Given the description of an element on the screen output the (x, y) to click on. 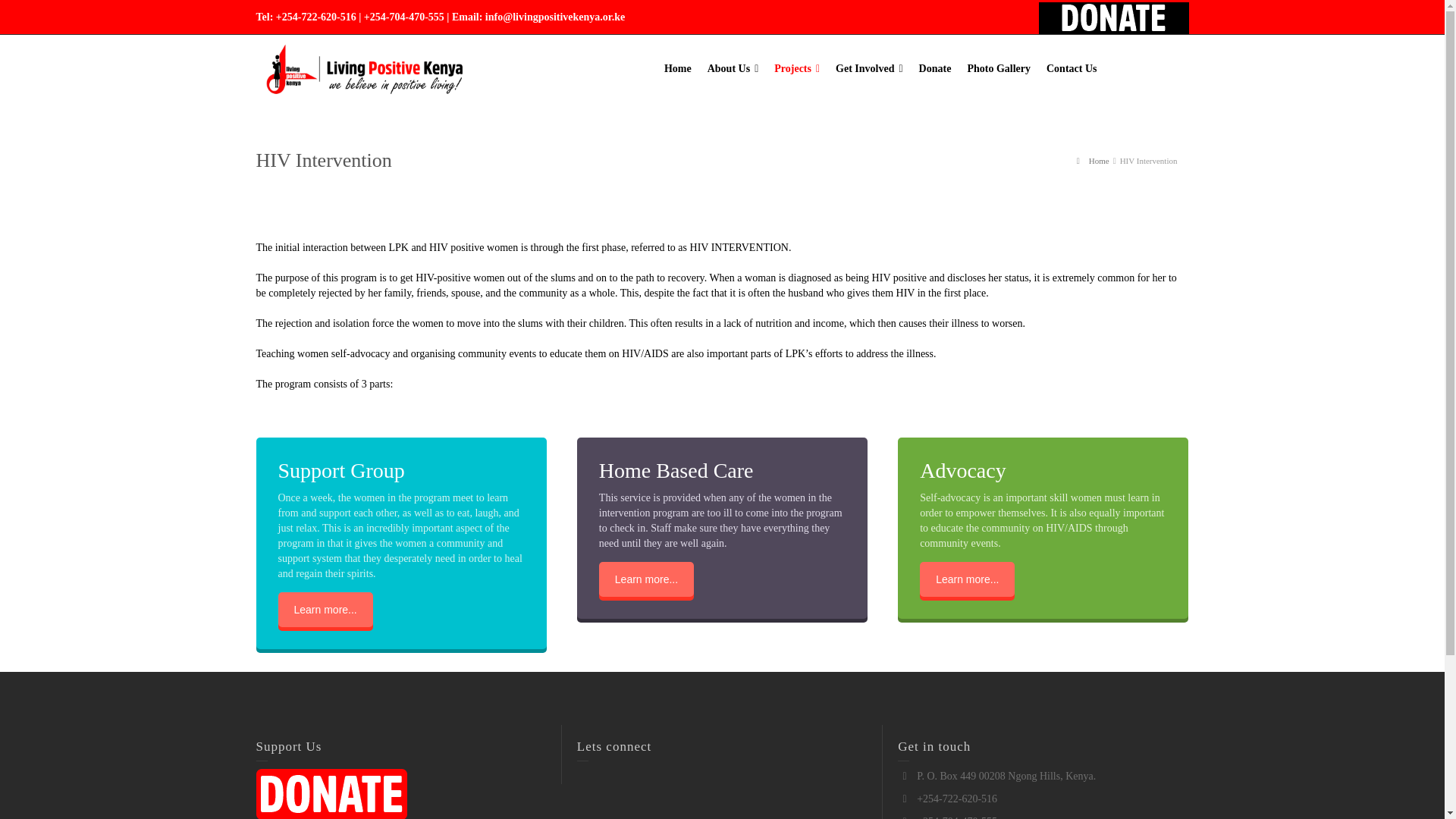
Living Positive Kenya (362, 67)
Contact Us (1072, 69)
Photo Gallery (999, 69)
Projects (797, 69)
About Us (733, 69)
Get Involved (869, 69)
